Given the description of an element on the screen output the (x, y) to click on. 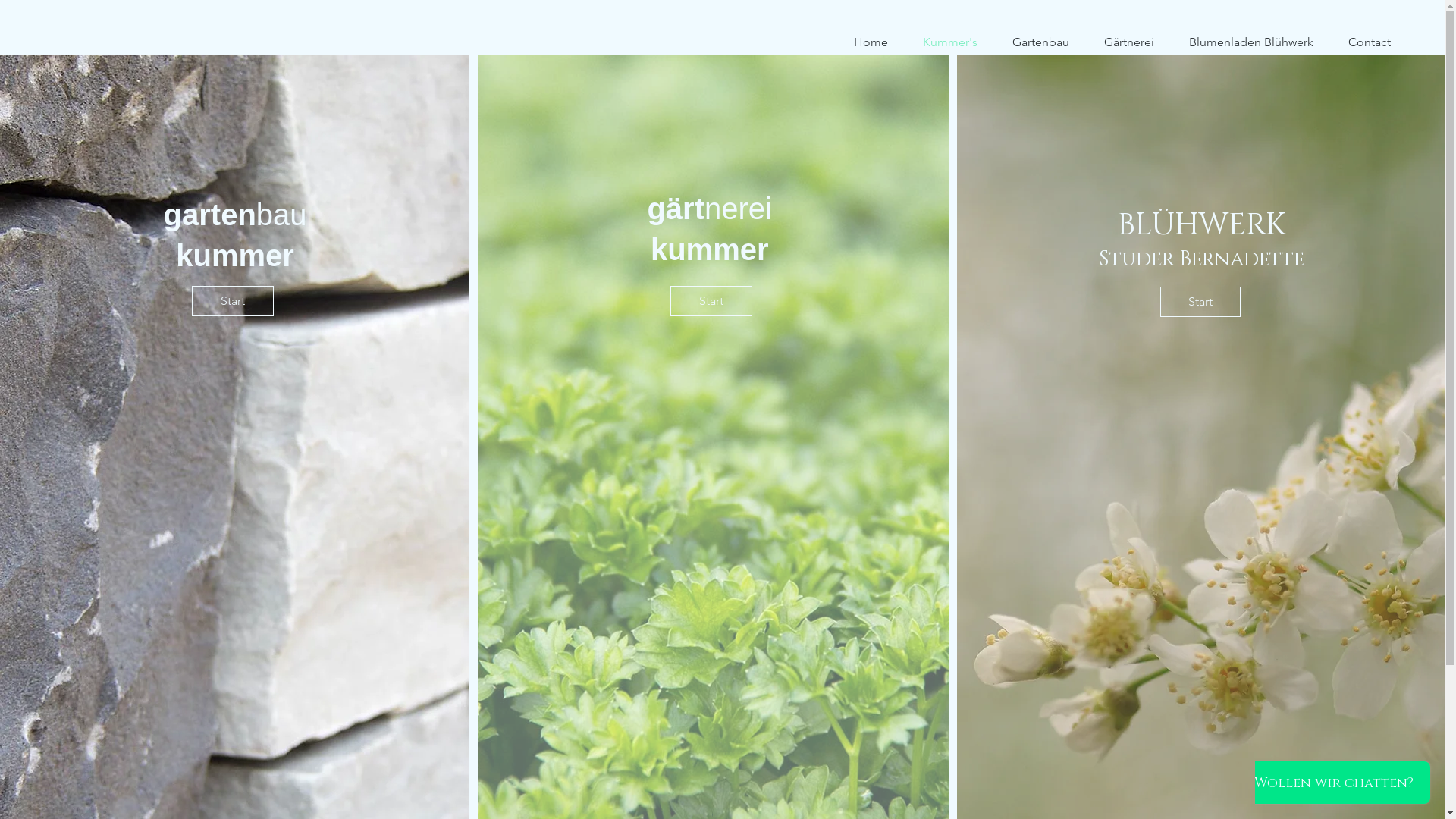
Start Element type: text (232, 300)
Gartenbau Element type: text (1040, 42)
Home Element type: text (870, 42)
Start Element type: text (1200, 301)
Start Element type: text (711, 300)
Contact Element type: text (1369, 42)
Kummer's Element type: text (949, 42)
